Given the description of an element on the screen output the (x, y) to click on. 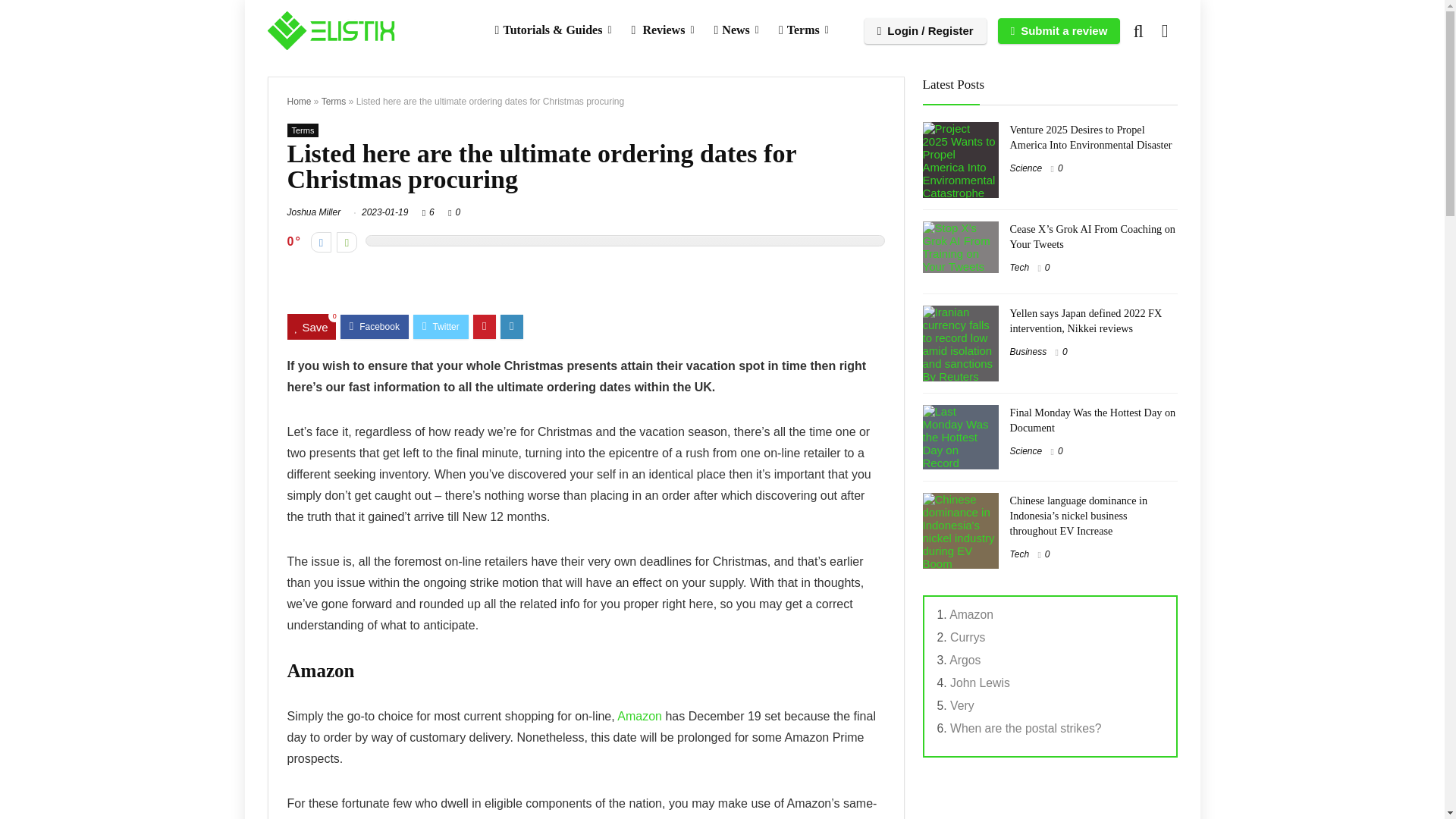
Submit a review (1059, 31)
Terms (803, 30)
Terms (302, 130)
Reviews (662, 30)
Terms (333, 101)
View all posts in Terms (302, 130)
Vote up (346, 241)
Vote down (321, 241)
Amazon (639, 716)
News (735, 30)
0 (458, 212)
Home (298, 101)
Joshua Miller (313, 212)
